Given the description of an element on the screen output the (x, y) to click on. 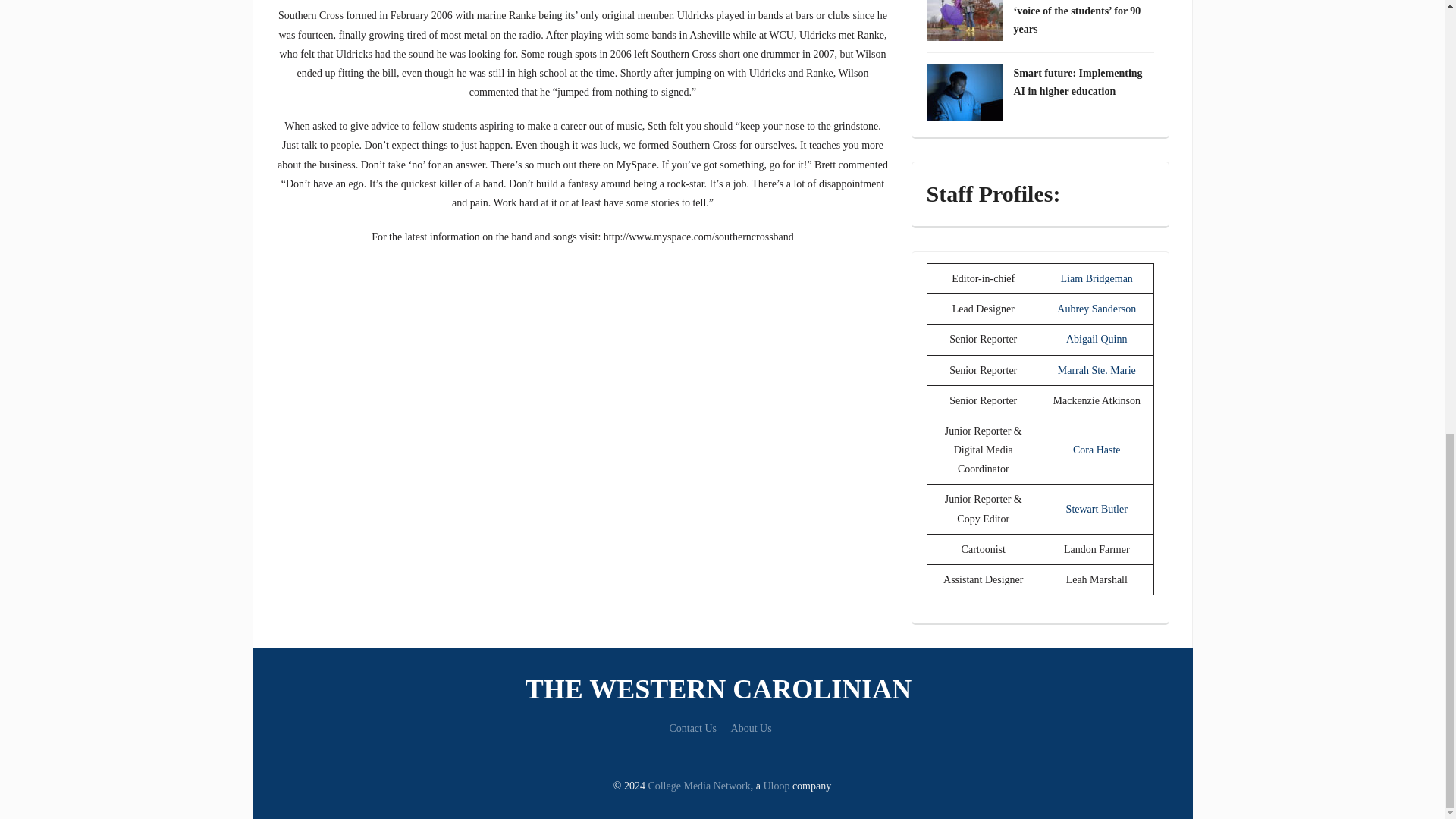
Western Carolina University's source for student-led news. (721, 688)
